Given the description of an element on the screen output the (x, y) to click on. 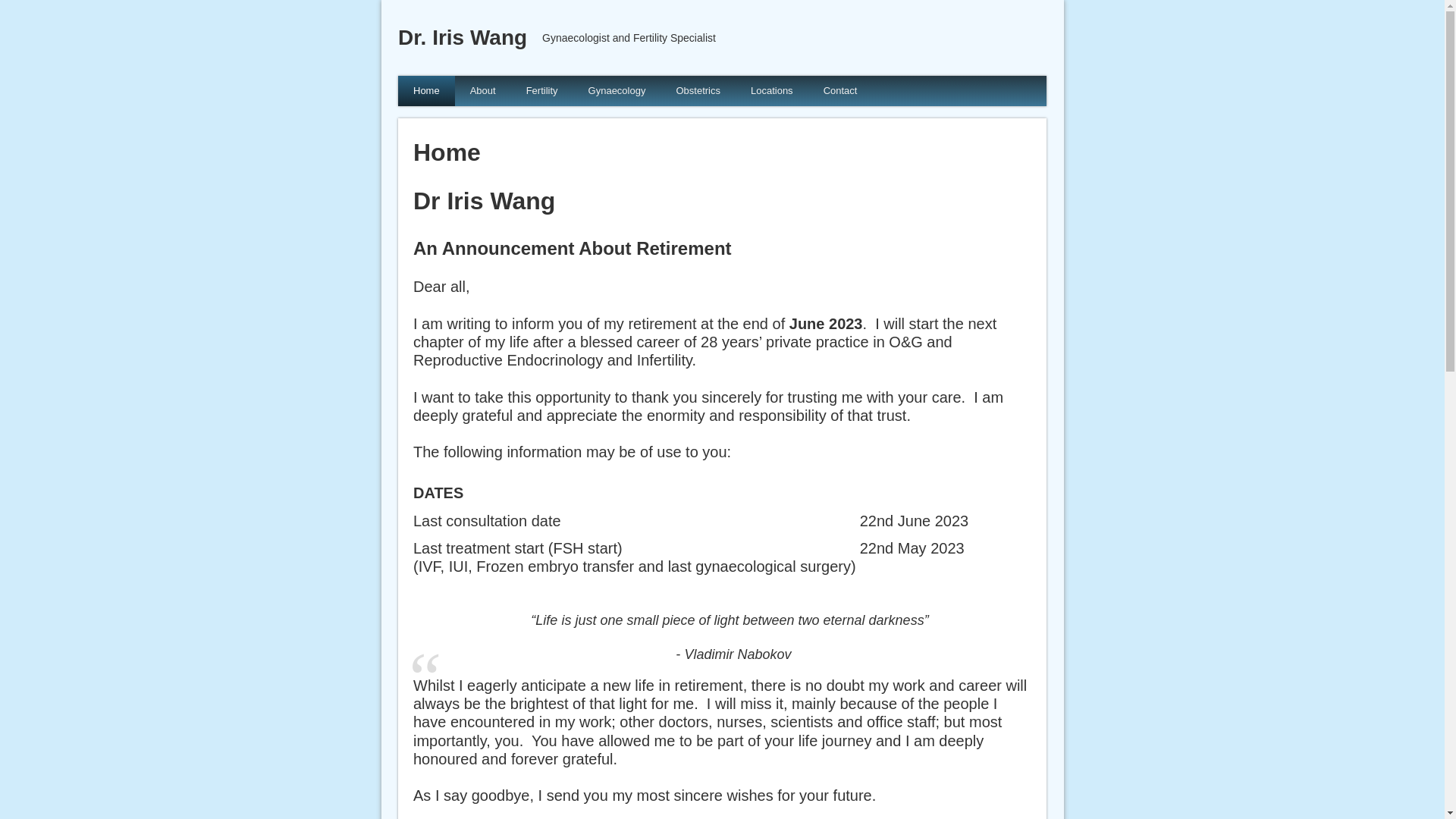
Fertility Element type: text (542, 90)
Dr. Iris Wang Element type: text (462, 37)
Obstetrics Element type: text (697, 90)
Gynaecology Element type: text (617, 90)
Home Element type: text (426, 90)
Contact Element type: text (840, 90)
Locations Element type: text (771, 90)
About Element type: text (483, 90)
